Given the description of an element on the screen output the (x, y) to click on. 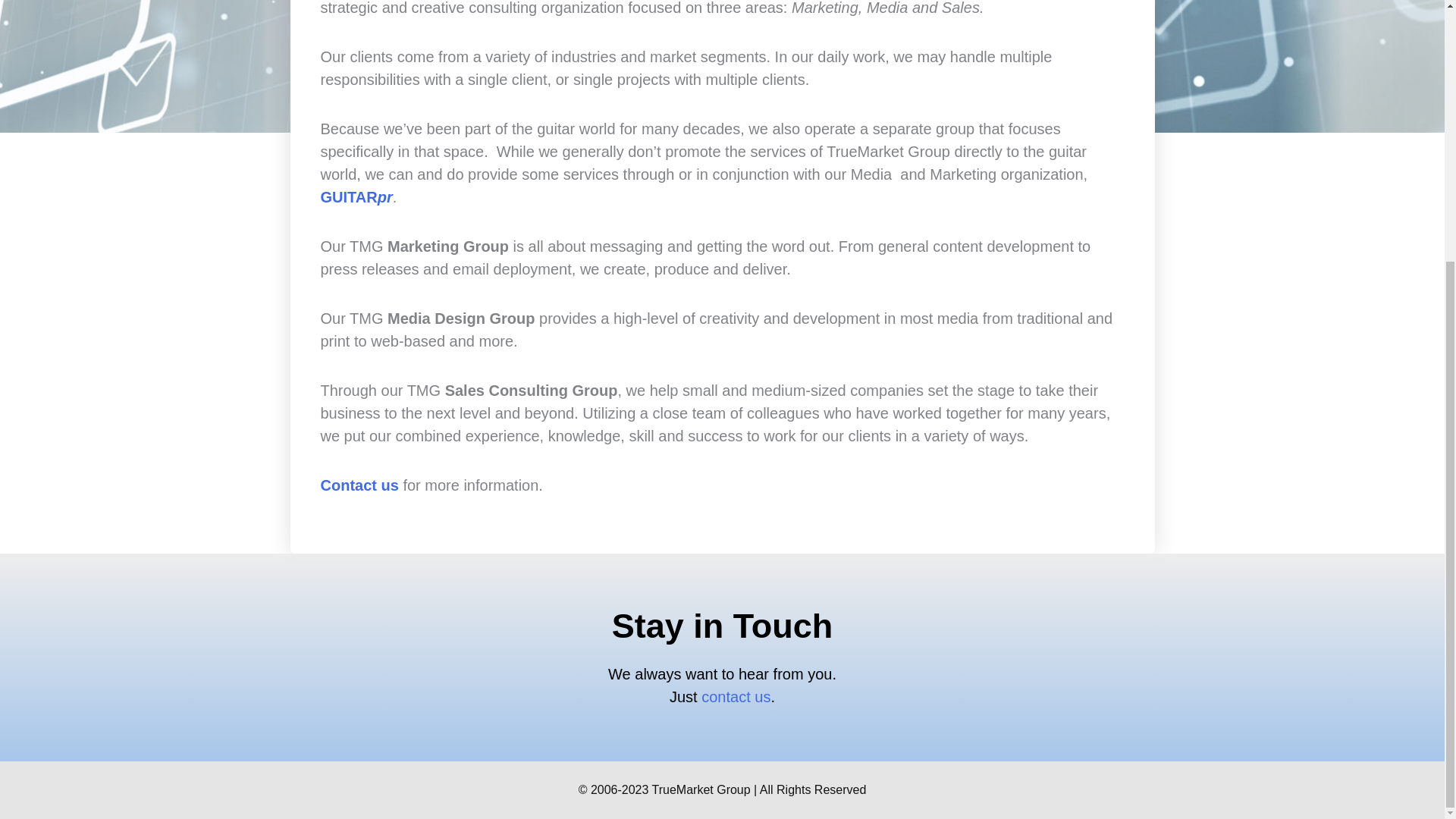
TrueMarket Group (701, 789)
contact us (735, 696)
GUITARpr (355, 197)
Contact us (358, 484)
